Given the description of an element on the screen output the (x, y) to click on. 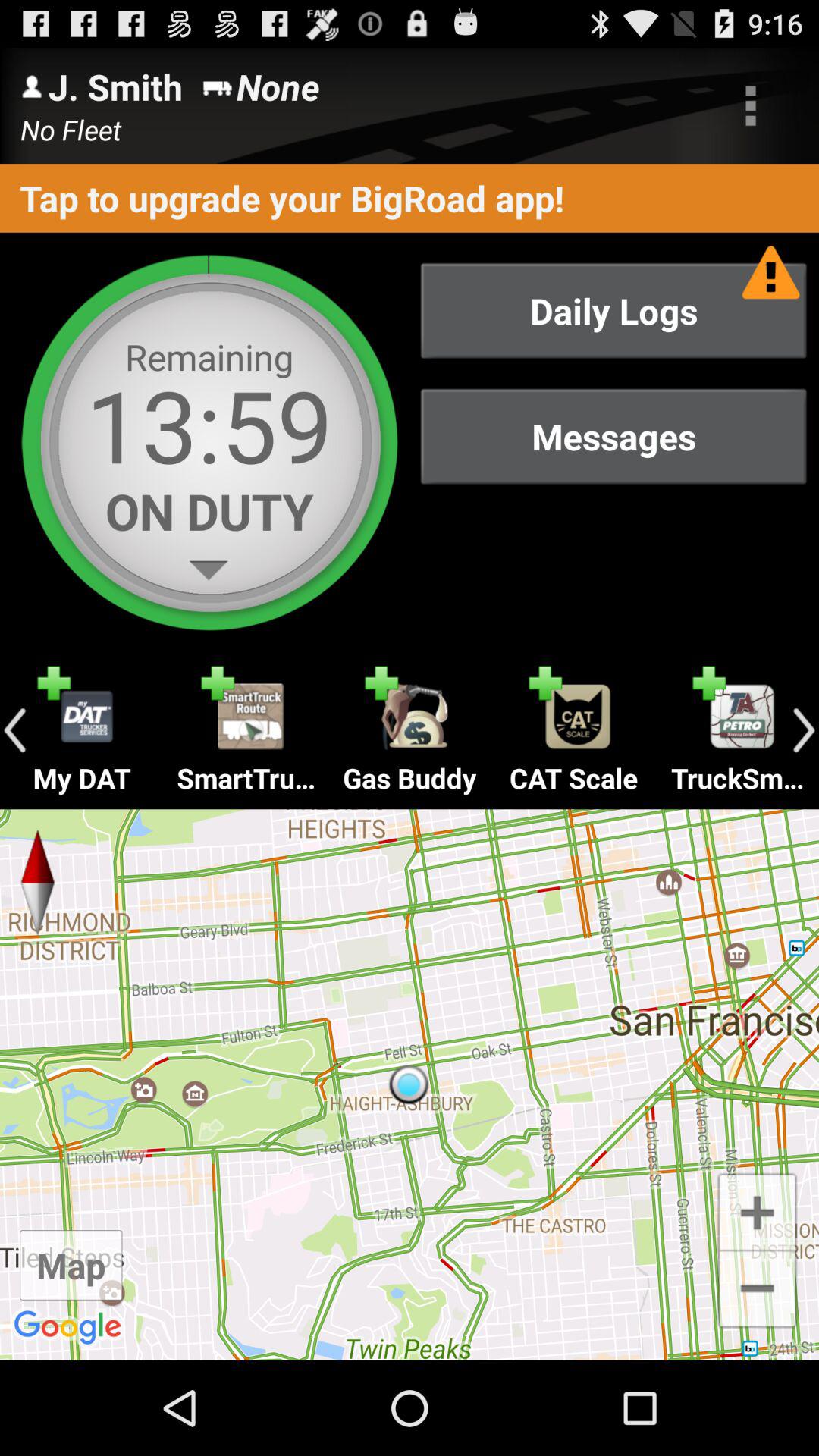
tap the item above messages item (613, 310)
